Given the description of an element on the screen output the (x, y) to click on. 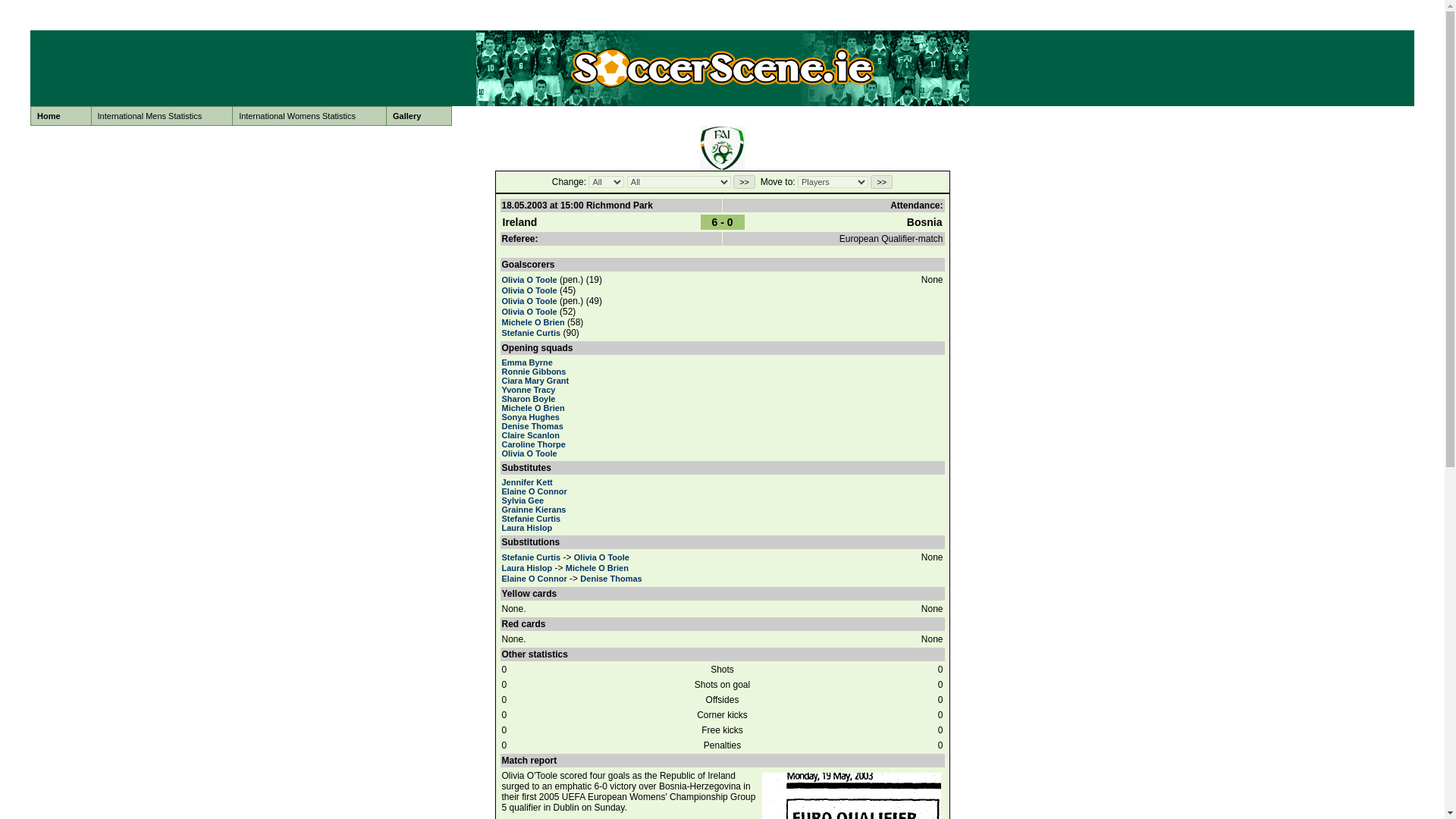
Home (60, 116)
International Womens Statistics (309, 116)
International Mens Statistics (161, 116)
